Given the description of an element on the screen output the (x, y) to click on. 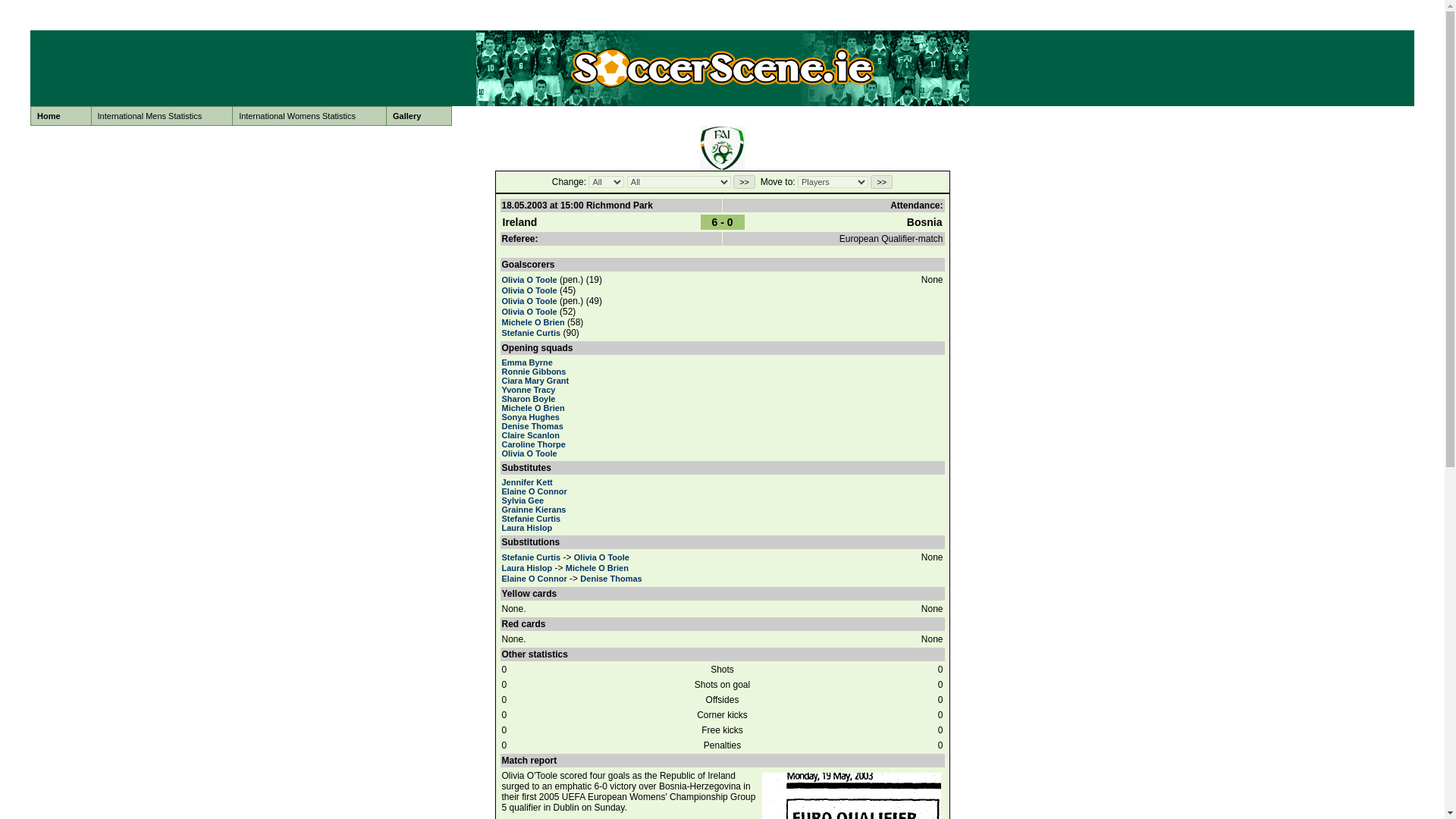
Home (60, 116)
International Womens Statistics (309, 116)
International Mens Statistics (161, 116)
